Given the description of an element on the screen output the (x, y) to click on. 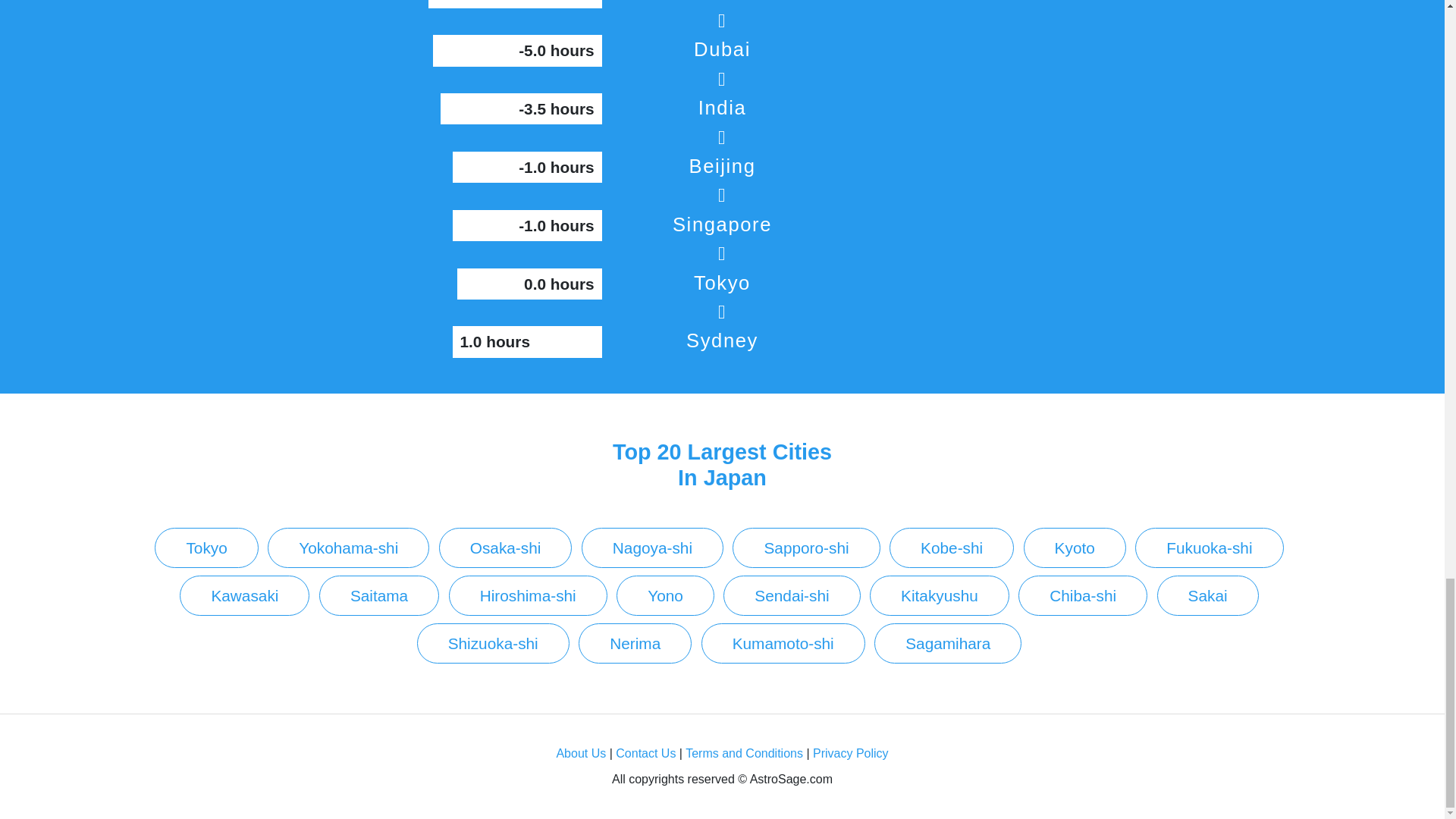
Saitama (378, 595)
Nagoya-shi (651, 547)
Osaka-shi (505, 547)
Sapporo-shi (805, 547)
Fukuoka-shi (1208, 547)
Tokyo (205, 547)
Yokohama-shi (348, 547)
Kawasaki (243, 595)
Kobe-shi (951, 547)
Kyoto (1074, 547)
